Given the description of an element on the screen output the (x, y) to click on. 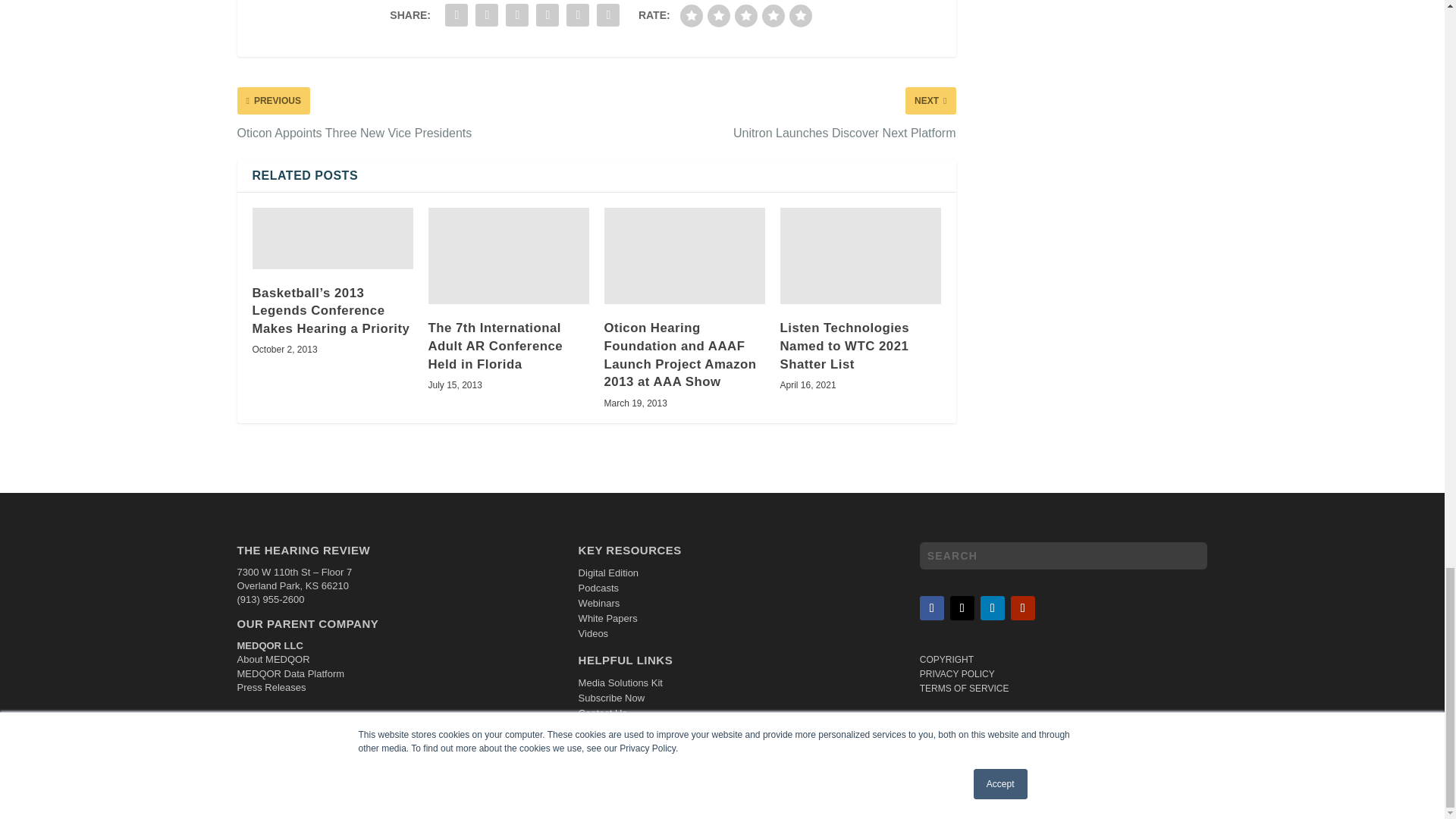
regular (746, 15)
poor (718, 15)
gorgeous (800, 15)
The 7th International Adult AR Conference Held in Florida (508, 255)
good (772, 15)
bad (691, 15)
